Given the description of an element on the screen output the (x, y) to click on. 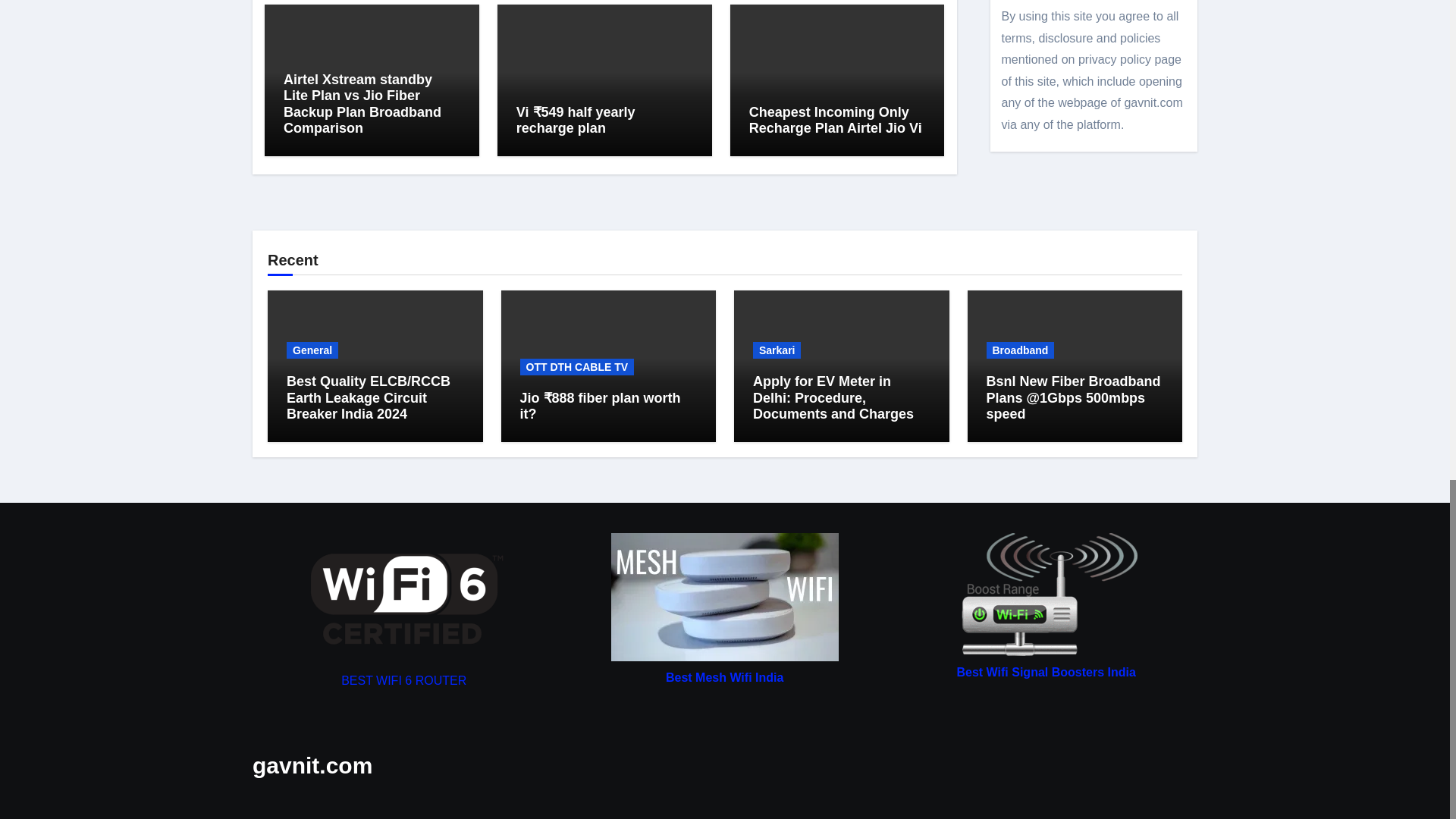
Cheapest Incoming Only Recharge Plan Airtel Jio Vi (835, 120)
